Given the description of an element on the screen output the (x, y) to click on. 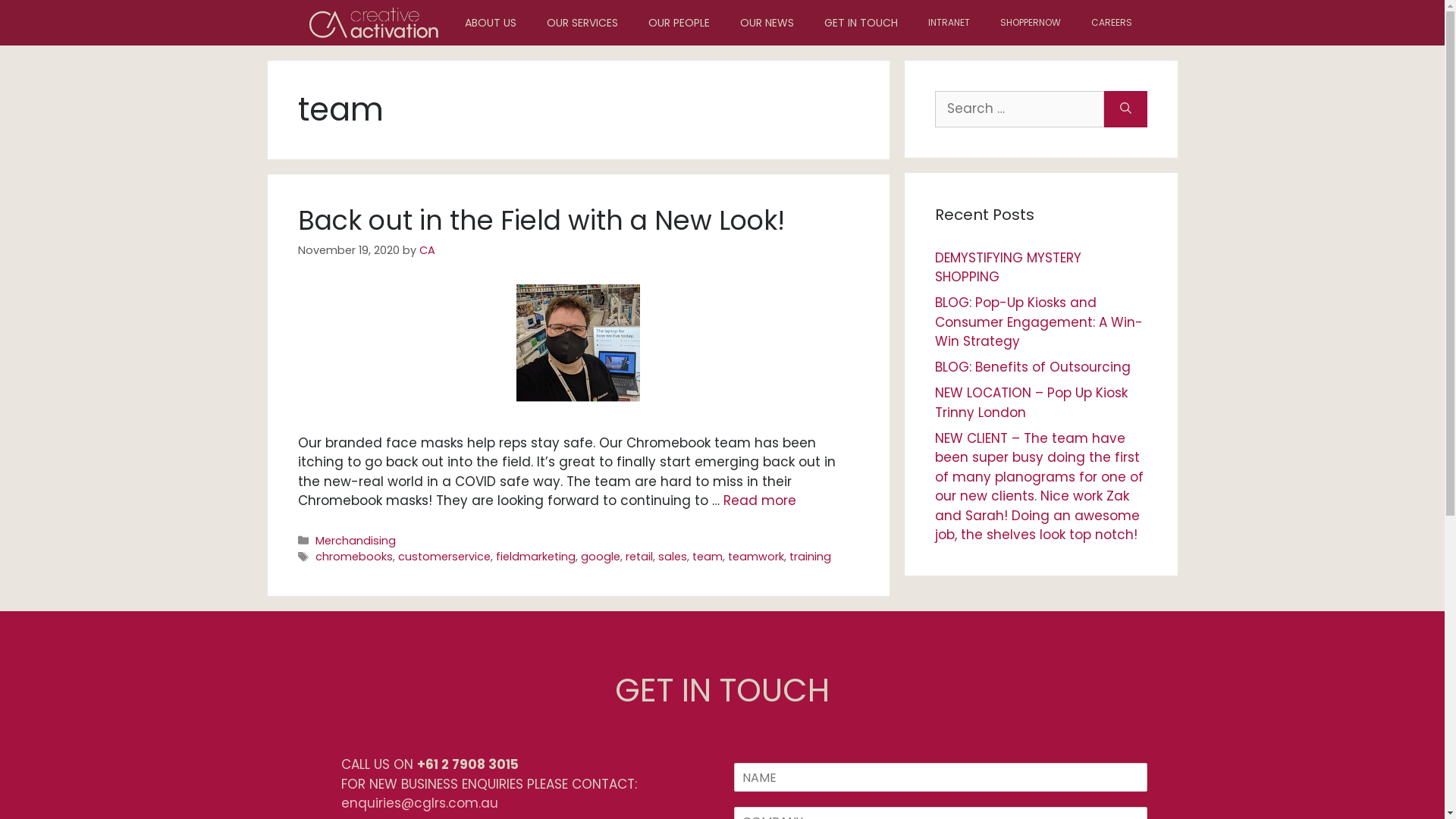
retail Element type: text (638, 556)
teamwork Element type: text (756, 556)
chromebooks Element type: text (353, 556)
Read more Element type: text (759, 500)
training Element type: text (810, 556)
DEMYSTIFYING MYSTERY SHOPPING Element type: text (1007, 267)
OUR PEOPLE Element type: text (678, 22)
ABOUT US Element type: text (489, 22)
team Element type: text (707, 556)
sales Element type: text (672, 556)
INTRANET Element type: text (949, 22)
BLOG: Benefits of Outsourcing Element type: text (1031, 366)
fieldmarketing Element type: text (535, 556)
CA Element type: text (426, 249)
OUR SERVICES Element type: text (581, 22)
Creative Activation Element type: hover (372, 22)
google Element type: text (600, 556)
customerservice Element type: text (444, 556)
Back out in the Field with a New Look! Element type: text (540, 219)
Merchandising Element type: text (355, 540)
OUR NEWS Element type: text (766, 22)
CAREERS Element type: text (1110, 22)
GET IN TOUCH Element type: text (860, 22)
Search for: Element type: hover (1018, 109)
SHOPPERNOW Element type: text (1029, 22)
enquiries@cglrs.com.au Element type: text (419, 802)
